Given the description of an element on the screen output the (x, y) to click on. 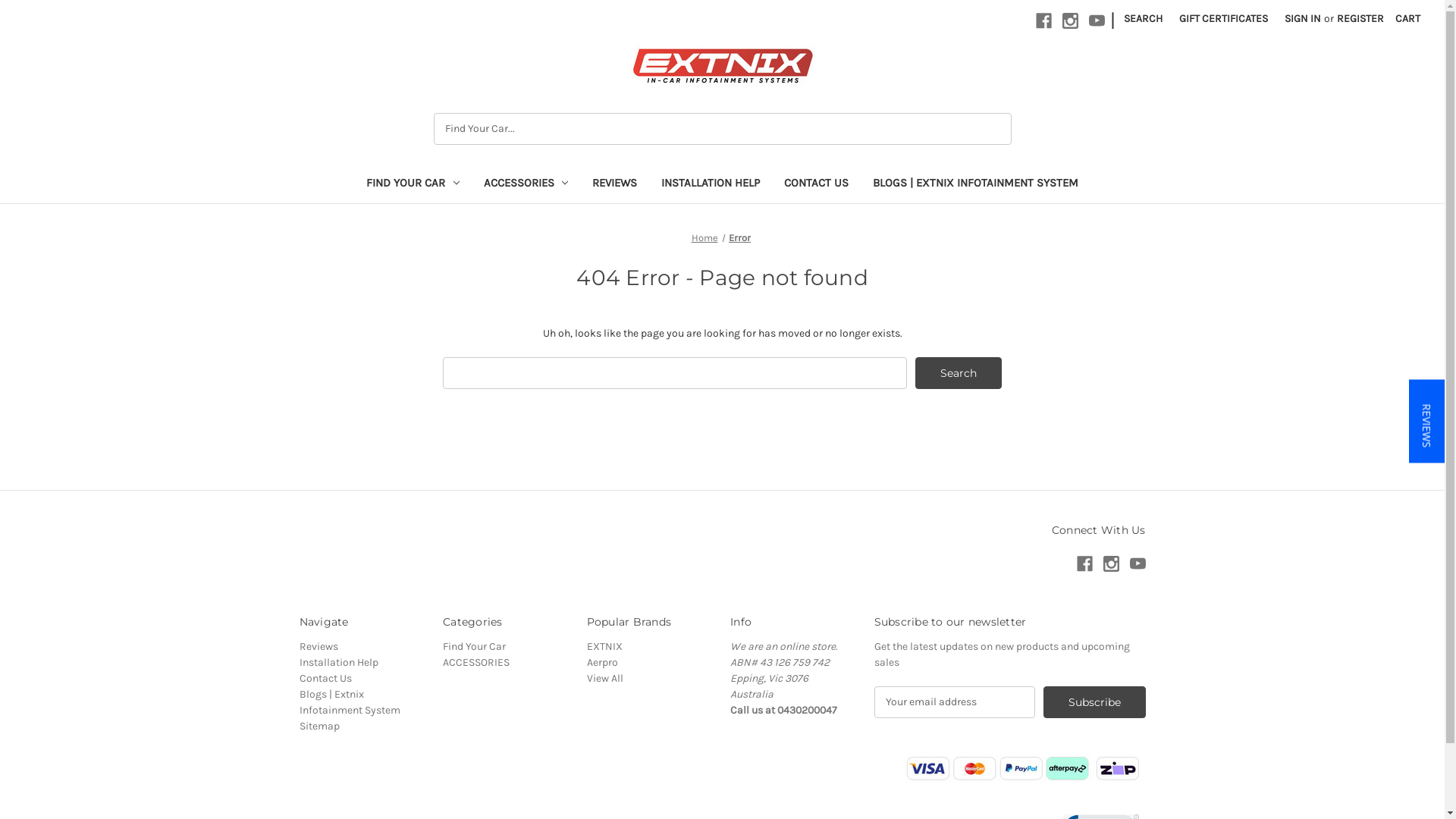
SIGN IN Element type: text (1302, 18)
Reviews Element type: text (317, 646)
FIND YOUR CAR Element type: text (412, 184)
View All Element type: text (604, 677)
REGISTER Element type: text (1360, 18)
Blogs | Extnix Infotainment System Element type: text (348, 701)
Subscribe Element type: text (1094, 702)
GIFT CERTIFICATES Element type: text (1223, 18)
REVIEWS Element type: text (614, 184)
Installation Help Element type: text (337, 661)
SEARCH Element type: text (1142, 18)
Contact Us Element type: text (324, 677)
Error Element type: text (739, 237)
Search Element type: text (958, 373)
BLOGS | EXTNIX INFOTAINMENT SYSTEM Element type: text (975, 184)
INSTALLATION HELP Element type: text (710, 184)
Aerpro Element type: text (602, 661)
Sitemap Element type: text (318, 725)
Home Element type: text (704, 237)
ACCESSORIES Element type: text (475, 661)
EXTNIX Element type: text (604, 646)
EXTNIX Element type: hover (722, 65)
ACCESSORIES Element type: text (525, 184)
CART Element type: text (1407, 18)
Find Your Car Element type: text (473, 646)
CONTACT US Element type: text (815, 184)
